Given the description of an element on the screen output the (x, y) to click on. 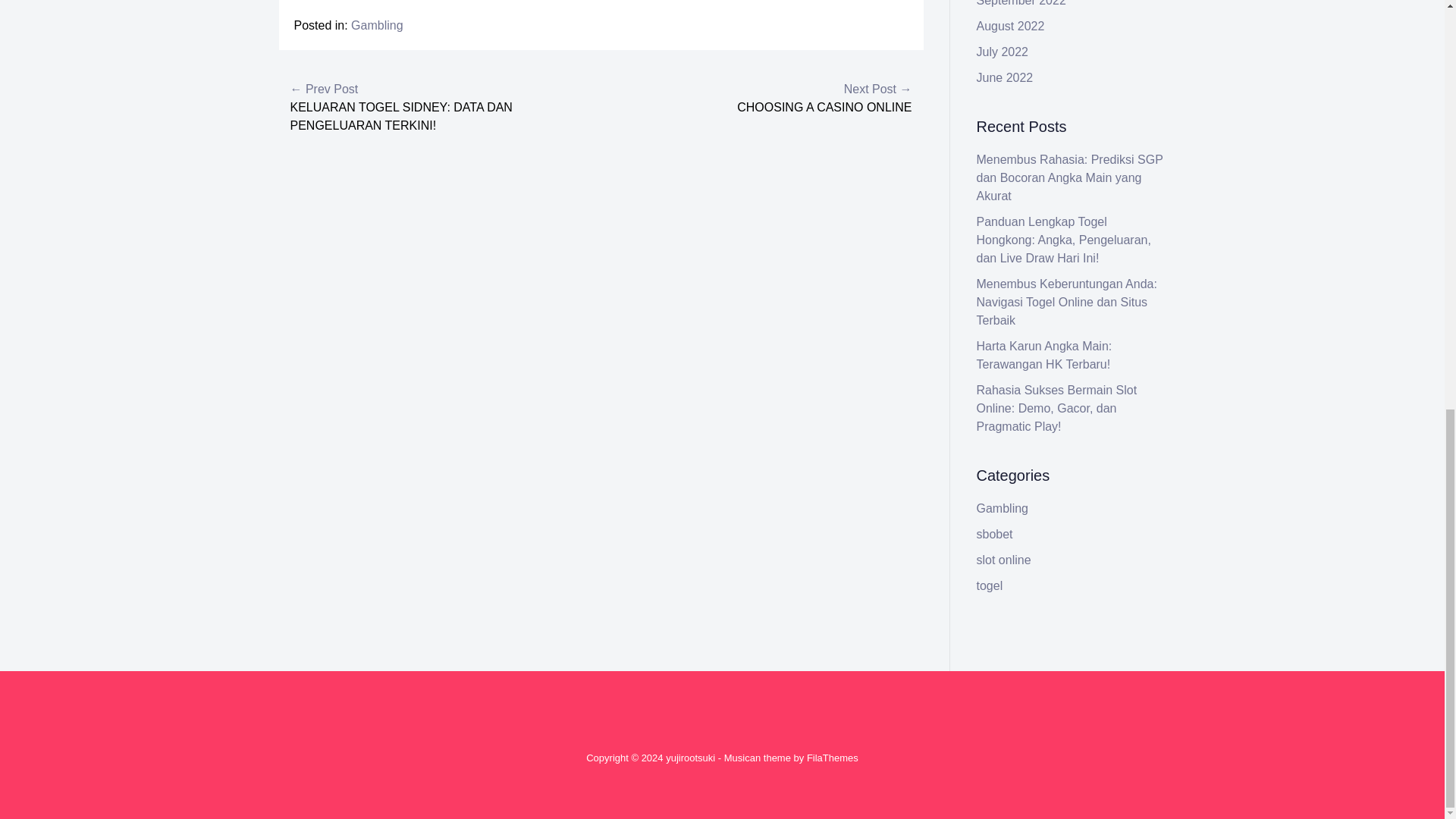
yujirootsuki (689, 757)
Gambling (376, 24)
Harta Karun Angka Main: Terawangan HK Terbaru! (1044, 355)
July 2022 (1002, 51)
September 2022 (1020, 3)
August 2022 (1010, 25)
June 2022 (1004, 77)
